Given the description of an element on the screen output the (x, y) to click on. 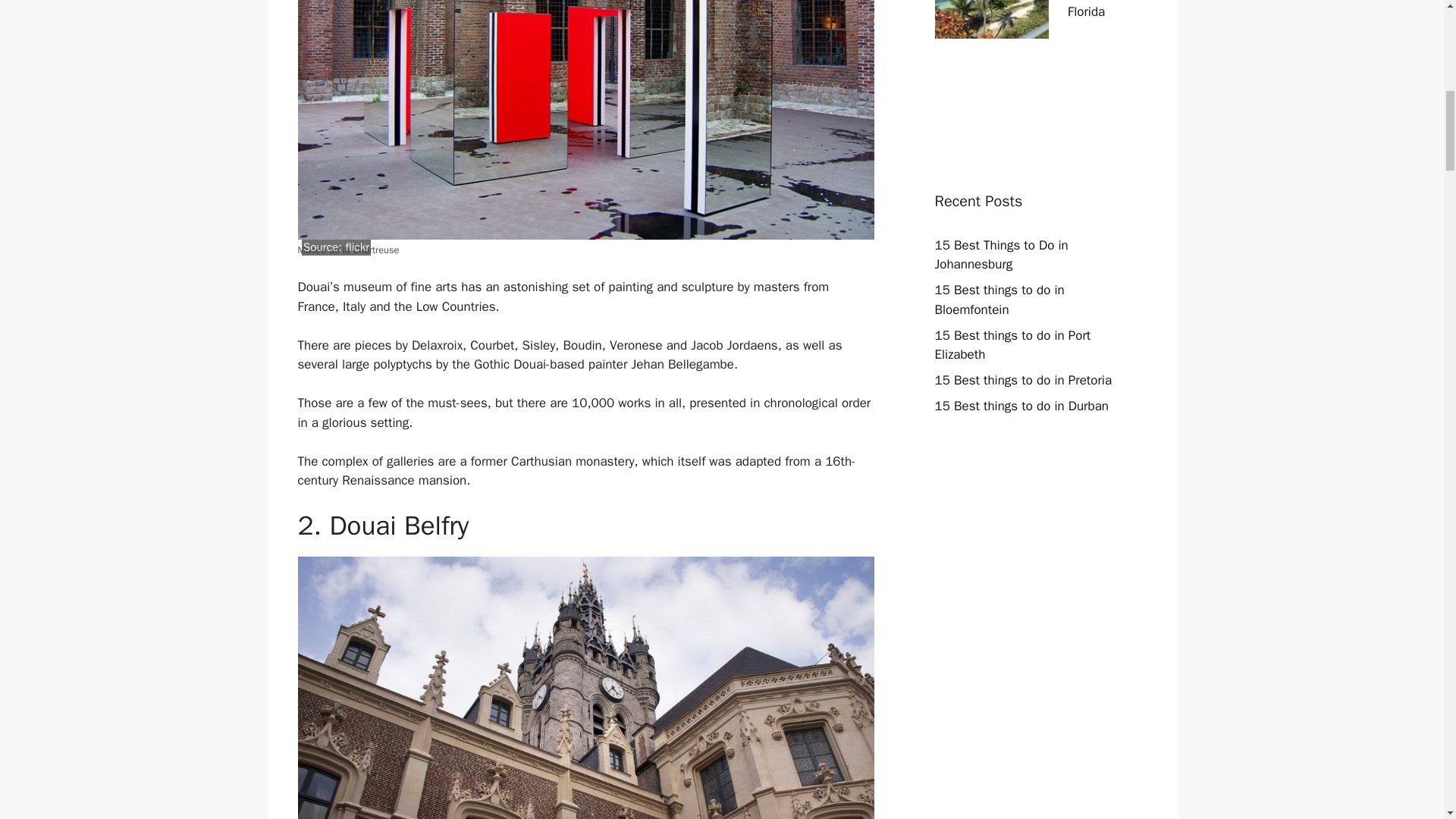
flickr (357, 246)
